Given the description of an element on the screen output the (x, y) to click on. 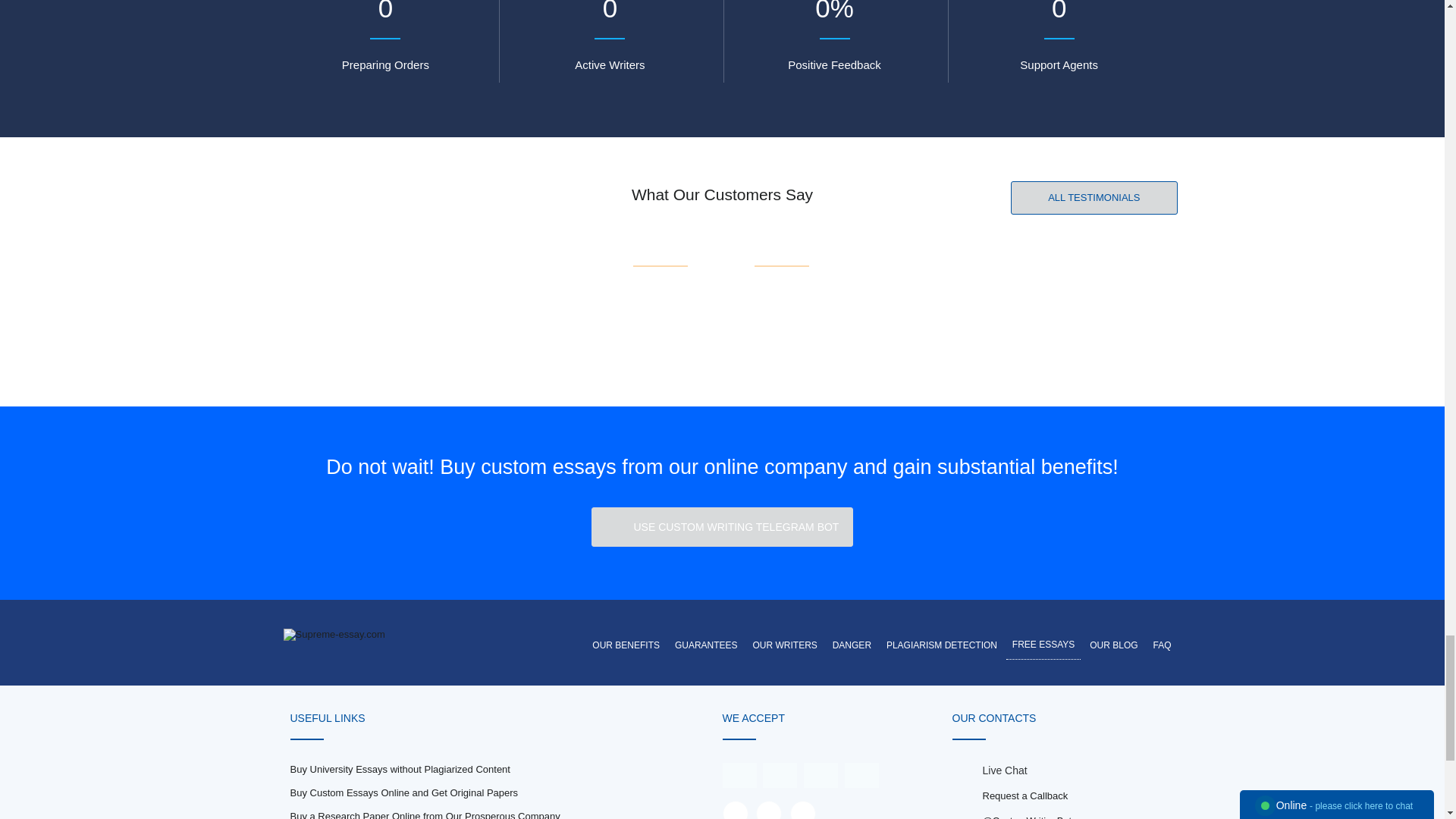
Credit and debit cards by MasterCard (779, 773)
Supreme-essay.com (334, 634)
Credit cards by American Express (820, 773)
Credit and debit cards by Visa (738, 773)
Apple pay (861, 773)
